Given the description of an element on the screen output the (x, y) to click on. 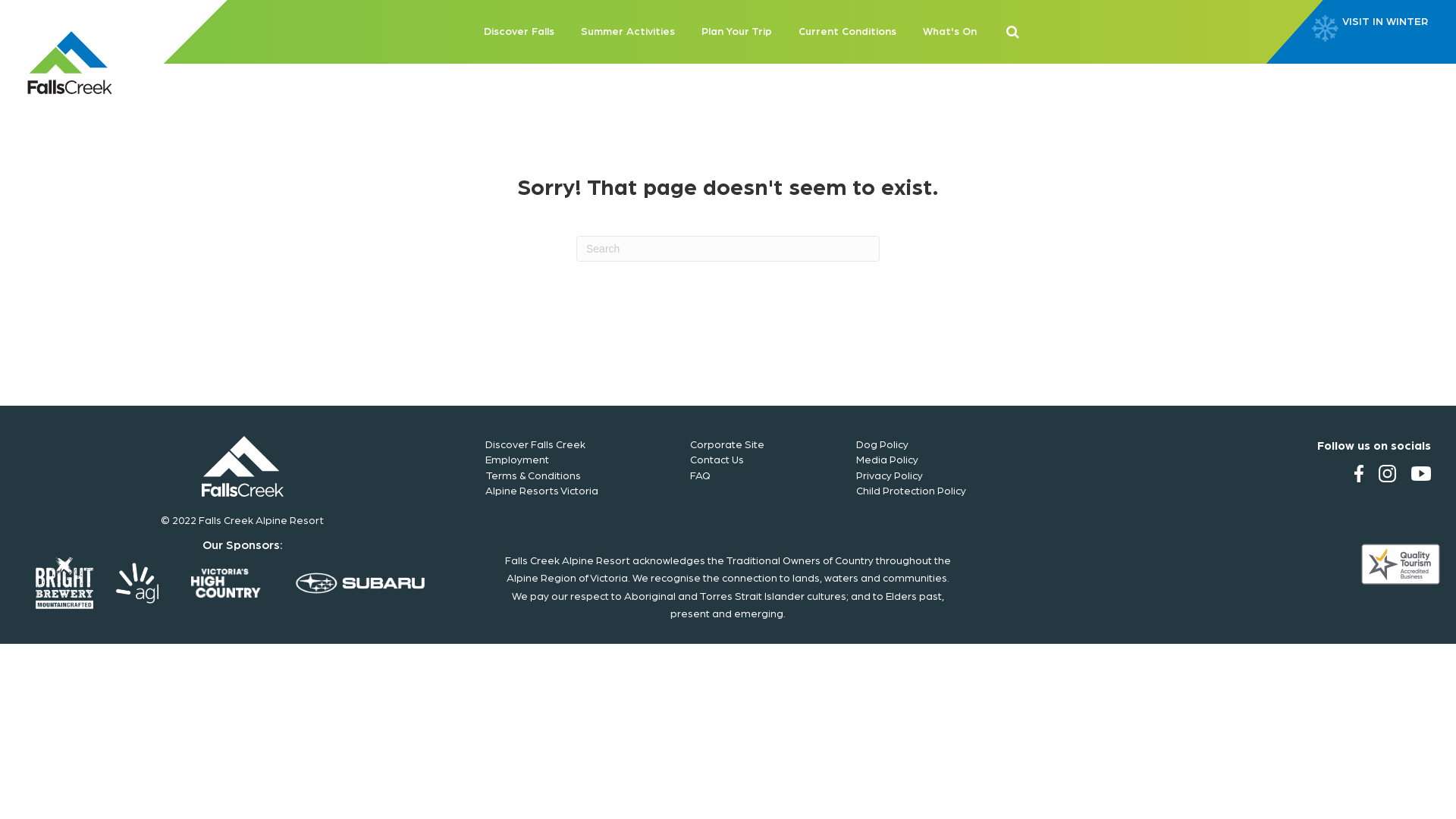
Alpine Resorts Victoria Element type: text (541, 489)
FAQ Element type: text (700, 474)
Discover Falls Element type: text (518, 31)
Search Element type: text (13, 12)
VTEC logo for website Element type: hover (1400, 563)
Media Policy Element type: text (887, 458)
Current Conditions Element type: text (846, 31)
Plan Your Trip Element type: text (735, 31)
FCRM Logo_Winter_RGB_Primary Element type: hover (242, 466)
Terms & Conditions Element type: text (532, 474)
What's On Element type: text (948, 31)
Child Protection Policy Element type: text (911, 489)
Discover Falls Creek Element type: text (535, 443)
VISIT IN SUMMER Element type: text (1391, 31)
Privacy Policy Element type: text (889, 474)
Summer Activities Element type: text (627, 31)
Type and press Enter to search. Element type: hover (727, 248)
Corporate Site Element type: text (727, 443)
Employment Element type: text (517, 458)
Contact Us Element type: text (716, 458)
Dog Policy Element type: text (882, 443)
